Given the description of an element on the screen output the (x, y) to click on. 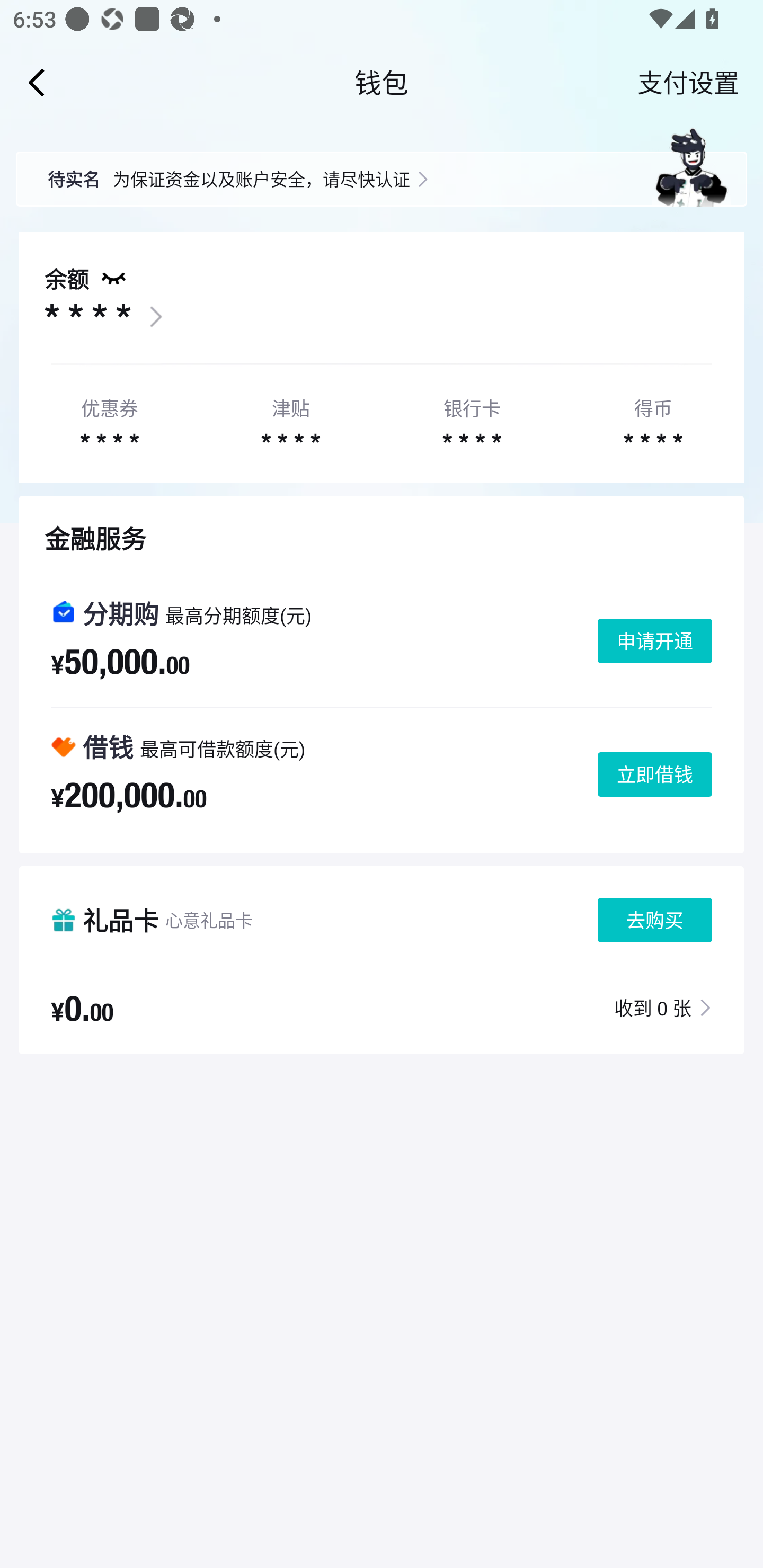
Navigate up (36, 82)
支付设置 (688, 82)
待实名 为保证资金以及账户安全，请尽快认证 (381, 166)
* * * * (87, 317)
优惠券 * * * * (109, 419)
津贴 * * * * (290, 419)
银行卡 * * * * (472, 419)
得币 * * * * (653, 419)
分期购 最高分期额度(元) ¥ 50,000.00 申请开通 (381, 641)
借钱 最高可借款额度(元) ¥ 200,000.00 立即借钱 (381, 774)
¥ 0.00 收到 0 张 (381, 1007)
